Given the description of an element on the screen output the (x, y) to click on. 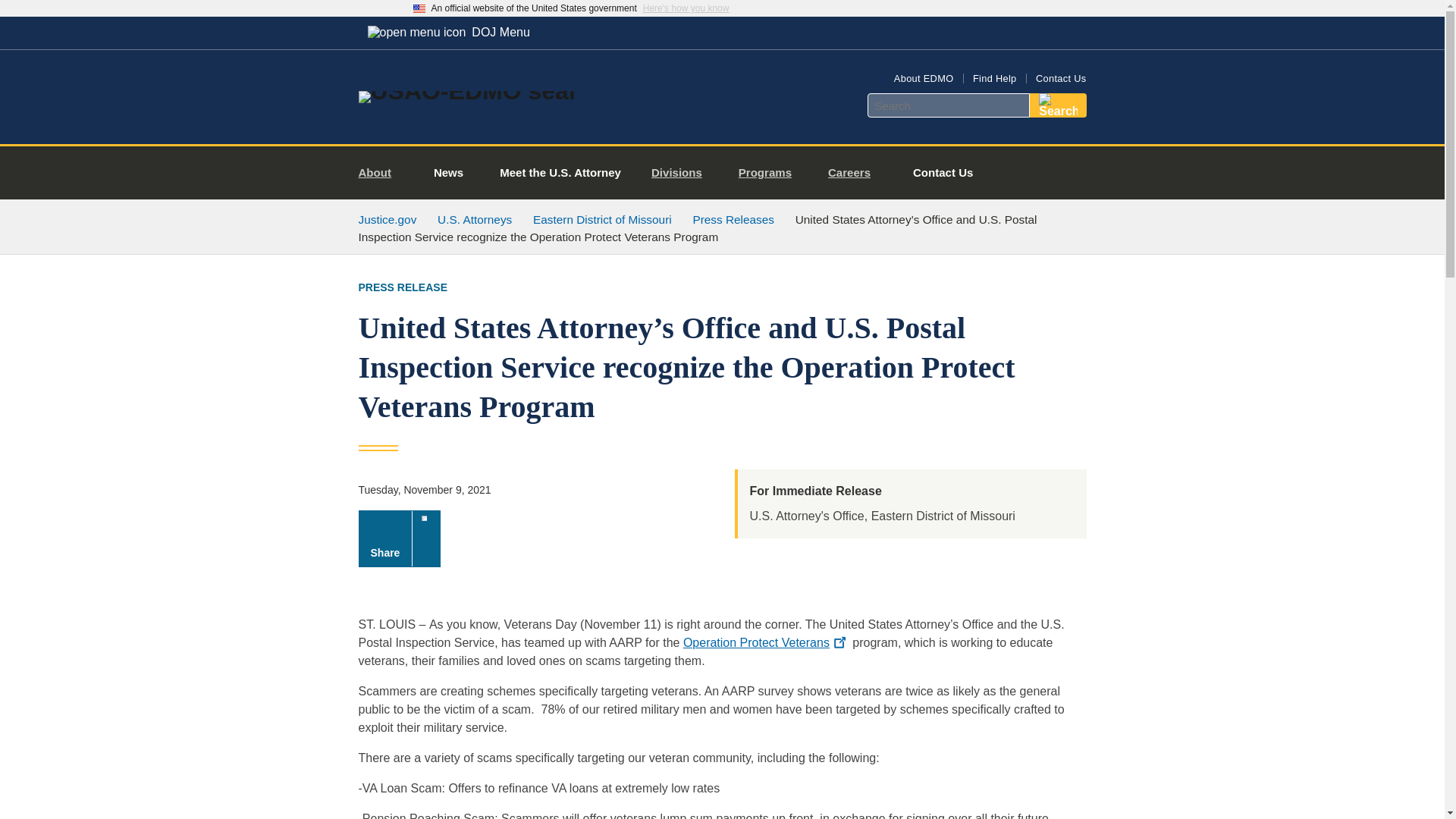
Contact Us (943, 172)
About EDMO (923, 78)
Share (398, 538)
Find Help (994, 78)
Meet the U.S. Attorney (560, 172)
U.S. Attorneys (475, 219)
Eastern District of Missouri (601, 219)
Divisions (682, 172)
Justice.gov (387, 219)
Careers (855, 172)
